Given the description of an element on the screen output the (x, y) to click on. 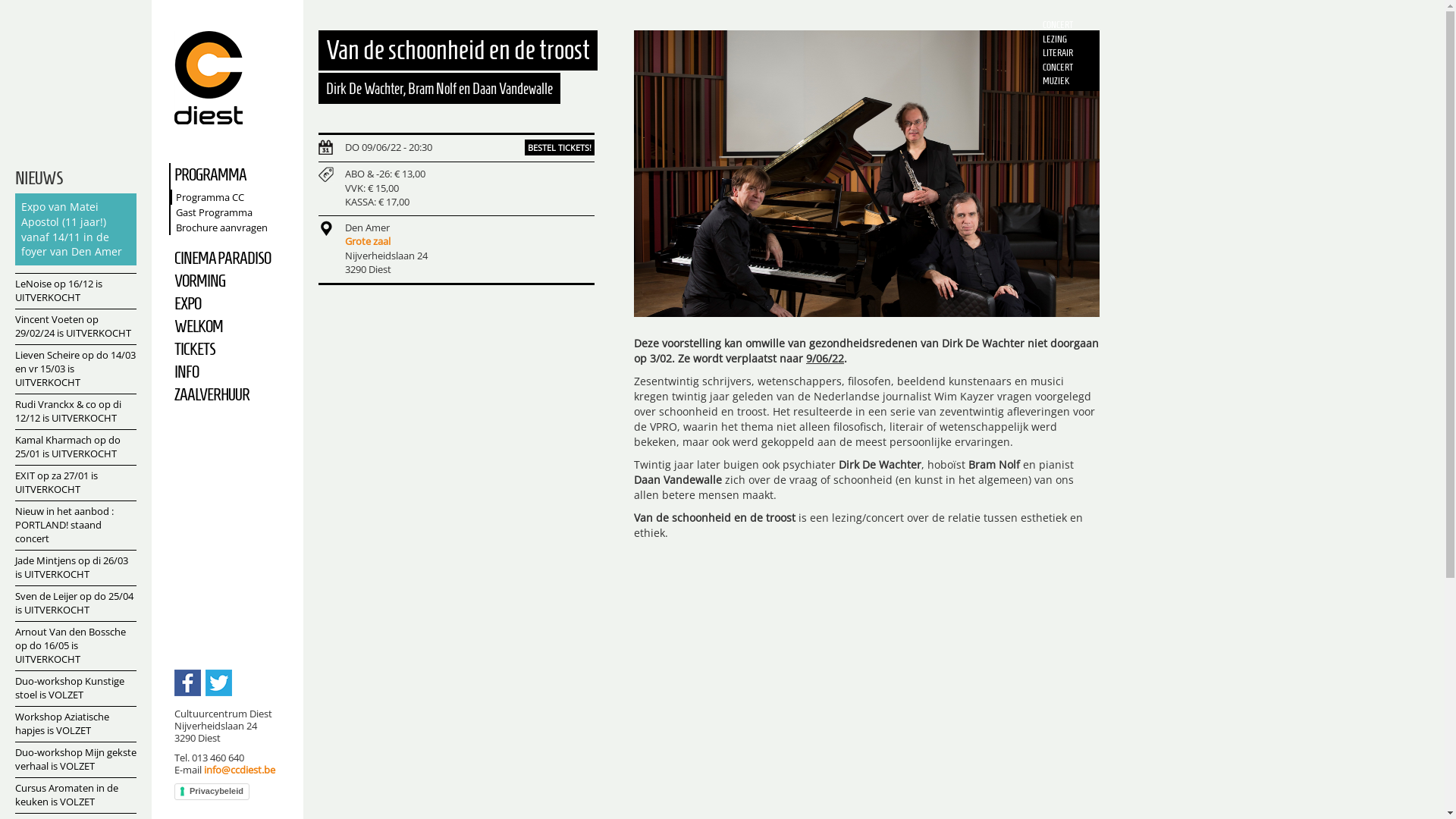
Brochure aanvragen Element type: text (232, 227)
Cursus Aromaten in de keuken is VOLZET Element type: text (75, 794)
NIEUWS Element type: text (38, 178)
ZAALVERHUUR Element type: text (232, 393)
CINEMA PARADISO Element type: text (232, 257)
WELKOM Element type: text (232, 325)
Programma CC Element type: text (232, 196)
INFO Element type: text (232, 371)
PROGRAMMA Element type: text (232, 174)
Gast Programma Element type: text (232, 211)
Grote zaal Element type: text (367, 240)
Workshop Aziatische hapjes is VOLZET Element type: text (75, 723)
EXPO Element type: text (232, 302)
Jade Mintjens op di 26/03 is UITVERKOCHT Element type: text (75, 567)
Sven de Leijer op do 25/04 is UITVERKOCHT Element type: text (75, 603)
TICKETS Element type: text (232, 348)
Rudi Vranckx & co op di 12/12 is UITVERKOCHT Element type: text (75, 411)
BESTEL TICKETS! Element type: text (559, 147)
EXIT op za 27/01 is UITVERKOCHT Element type: text (75, 482)
Lieven Scheire op do 14/03 en vr 15/03 is UITVERKOCHT Element type: text (75, 368)
Nieuw in het aanbod : PORTLAND! staand concert Element type: text (75, 524)
Duo-workshop Kunstige stoel is VOLZET Element type: text (75, 688)
Privacybeleid Element type: text (211, 791)
Kamal Kharmach op do 25/01 is UITVERKOCHT Element type: text (75, 446)
Arnout Van den Bossche op do 16/05 is UITVERKOCHT Element type: text (75, 645)
VORMING Element type: text (232, 280)
Duo-workshop Mijn gekste verhaal is VOLZET Element type: text (75, 759)
Vincent Voeten op 29/02/24 is UITVERKOCHT Element type: text (75, 326)
info@ccdiest.be Element type: text (239, 769)
LeNoise op 16/12 is UITVERKOCHT Element type: text (75, 290)
